Given the description of an element on the screen output the (x, y) to click on. 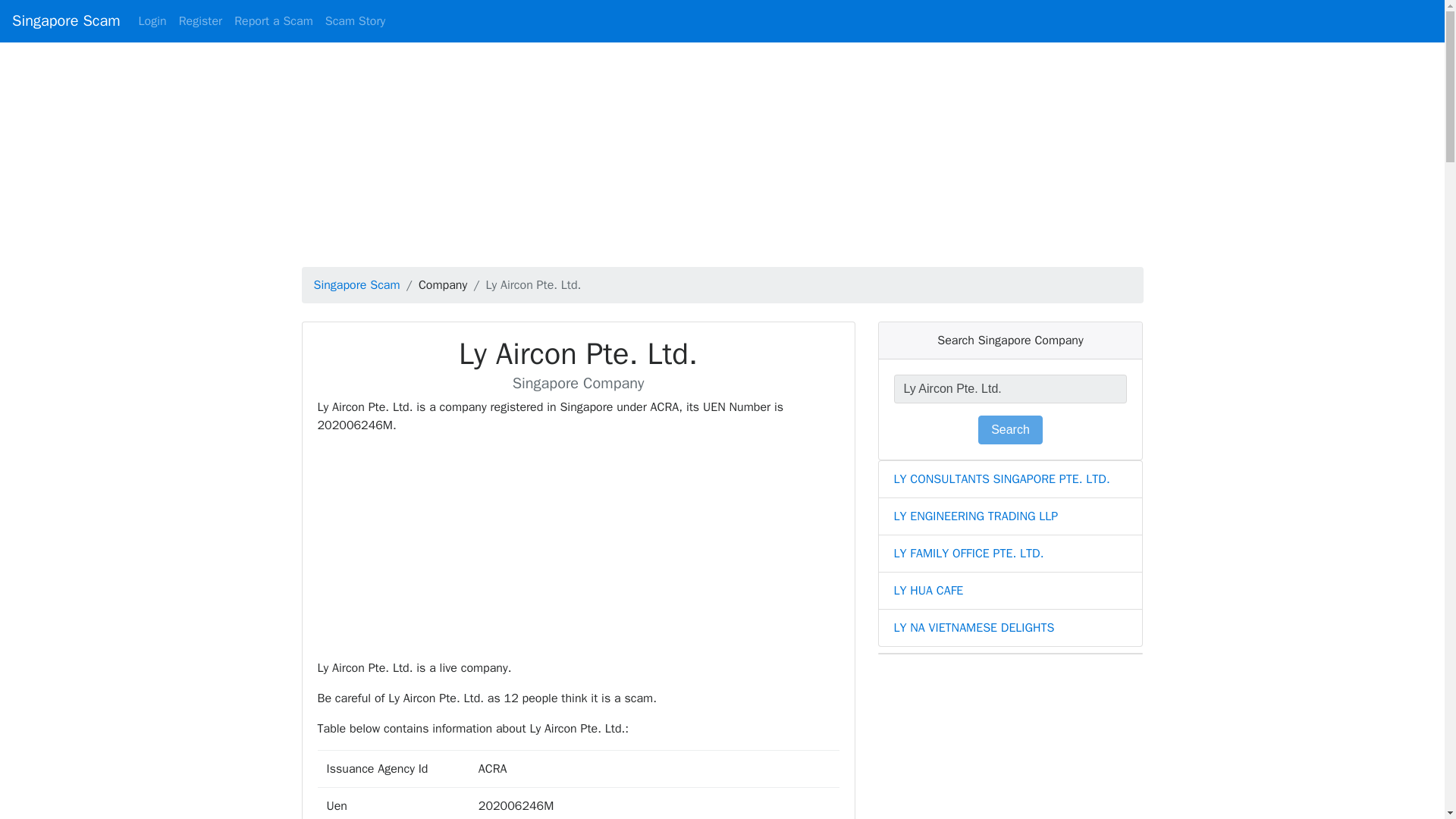
Advertisement (577, 552)
Login (152, 20)
Report a Scam (273, 20)
LY ENGINEERING TRADING LLP (975, 515)
LY NA VIETNAMESE DELIGHTS (973, 628)
Singapore Scam (357, 284)
Scam Story (354, 20)
LY CONSULTANTS SINGAPORE PTE. LTD. (1001, 479)
Register (200, 20)
Singapore Scam (65, 21)
Search (1010, 429)
Ly Aircon Pte. Ltd. (1009, 388)
LY HUA CAFE (927, 590)
LY FAMILY OFFICE PTE. LTD. (968, 553)
